Given the description of an element on the screen output the (x, y) to click on. 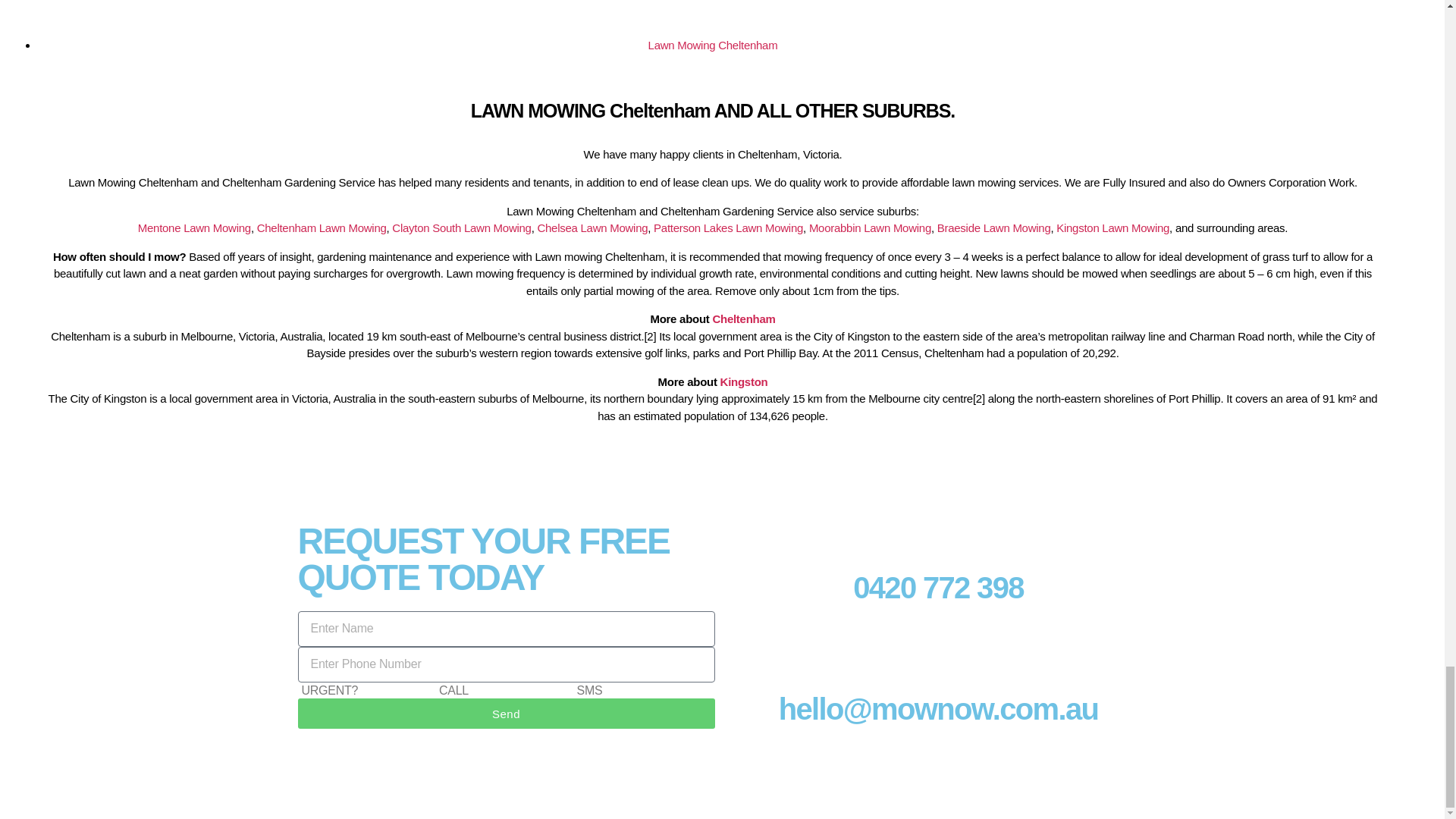
Patterson Lakes Lawn Mowing (728, 227)
Cheltenham (742, 318)
Mentone Lawn Mowing (194, 227)
Clayton South Lawn Mowing (461, 227)
Kingston Lawn Mowing (1113, 227)
Kingston (744, 381)
0420 772 398 (938, 587)
Chelsea Lawn Mowing (592, 227)
Moorabbin Lawn Mowing (870, 227)
Send (505, 713)
